Given the description of an element on the screen output the (x, y) to click on. 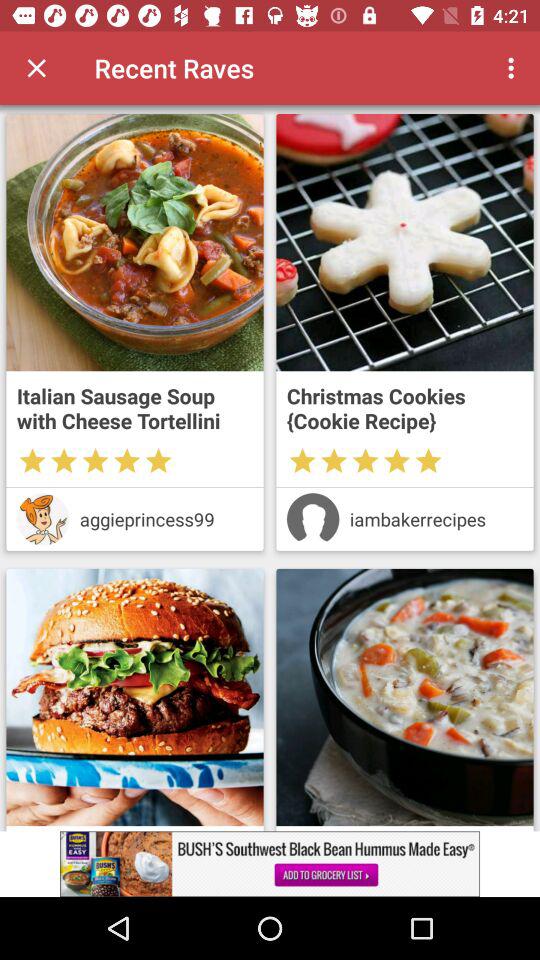
go to recipe (404, 697)
